Given the description of an element on the screen output the (x, y) to click on. 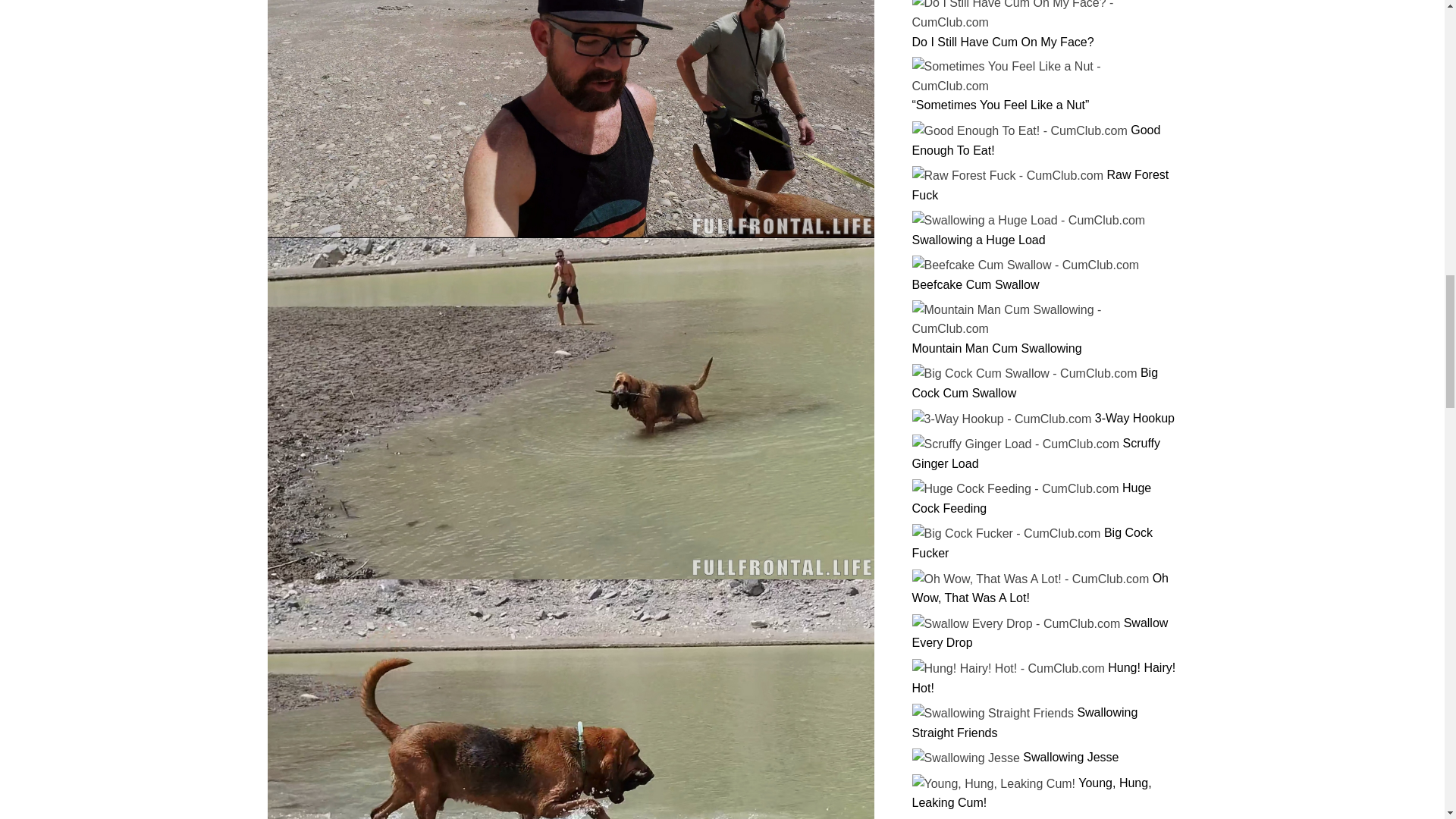
Good Enough To Eat! (1035, 140)
Do I Still Have Cum On My Face? (1002, 42)
